Given the description of an element on the screen output the (x, y) to click on. 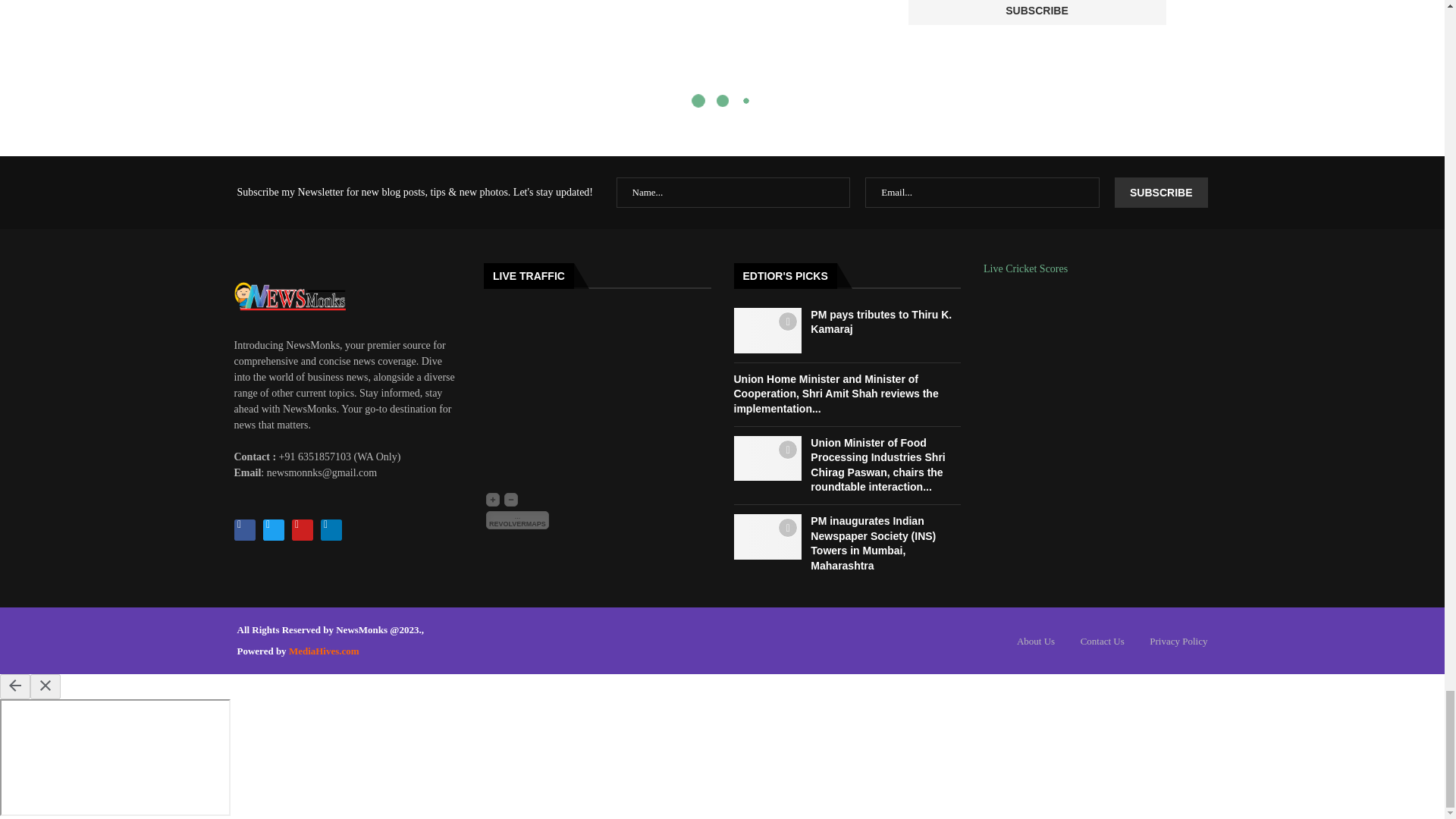
Subscribe (1161, 192)
Subscribe (1037, 12)
